Given the description of an element on the screen output the (x, y) to click on. 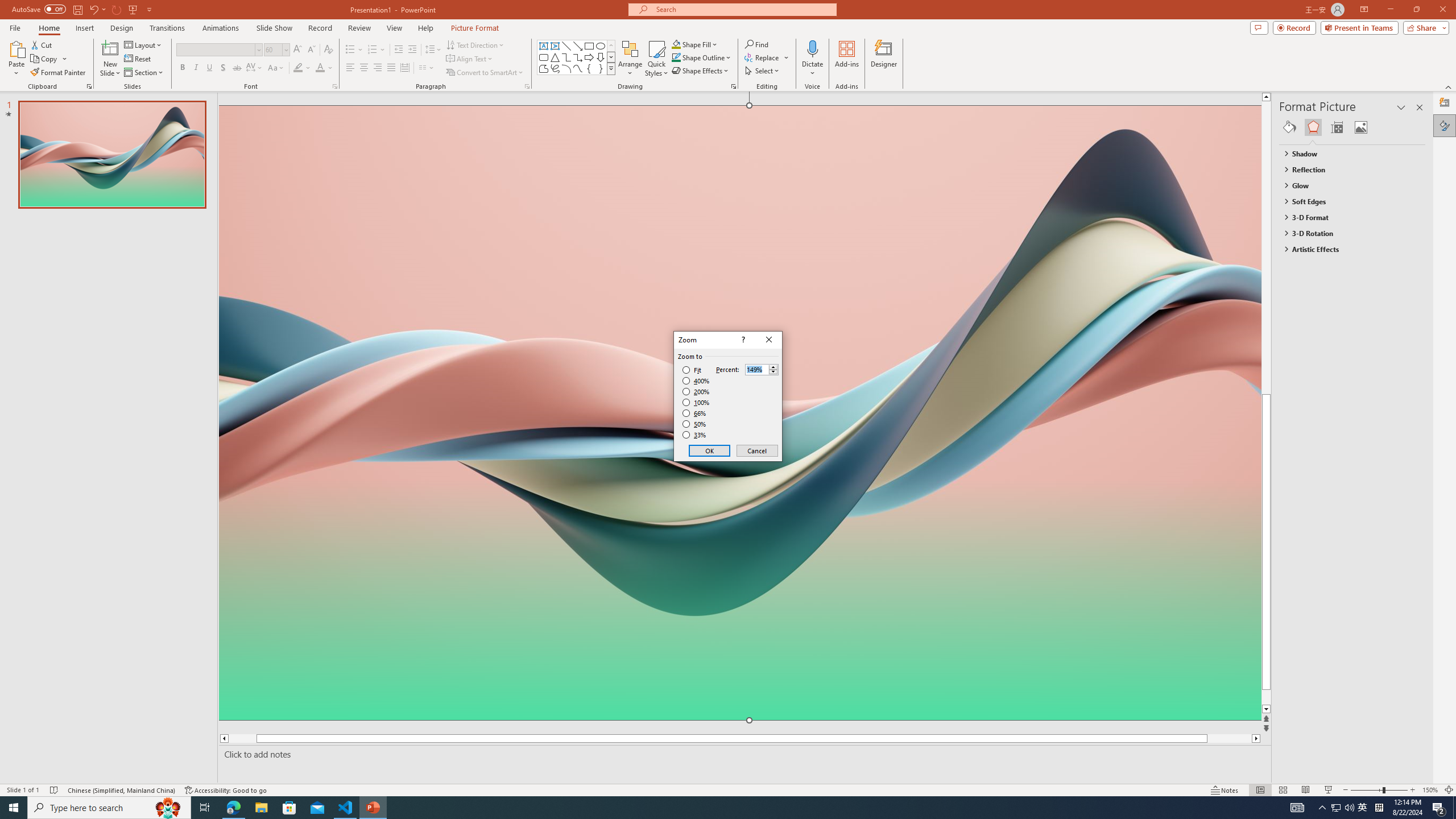
AutomationID: 4105 (1297, 807)
Row up (611, 45)
Visual Studio Code - 1 running window (345, 807)
Designer (883, 58)
Connector: Elbow (566, 57)
33% (1362, 807)
Picture Format (694, 434)
Line down (475, 28)
Percent (1287, 709)
Increase Font Size (761, 369)
Reflection (297, 49)
